Given the description of an element on the screen output the (x, y) to click on. 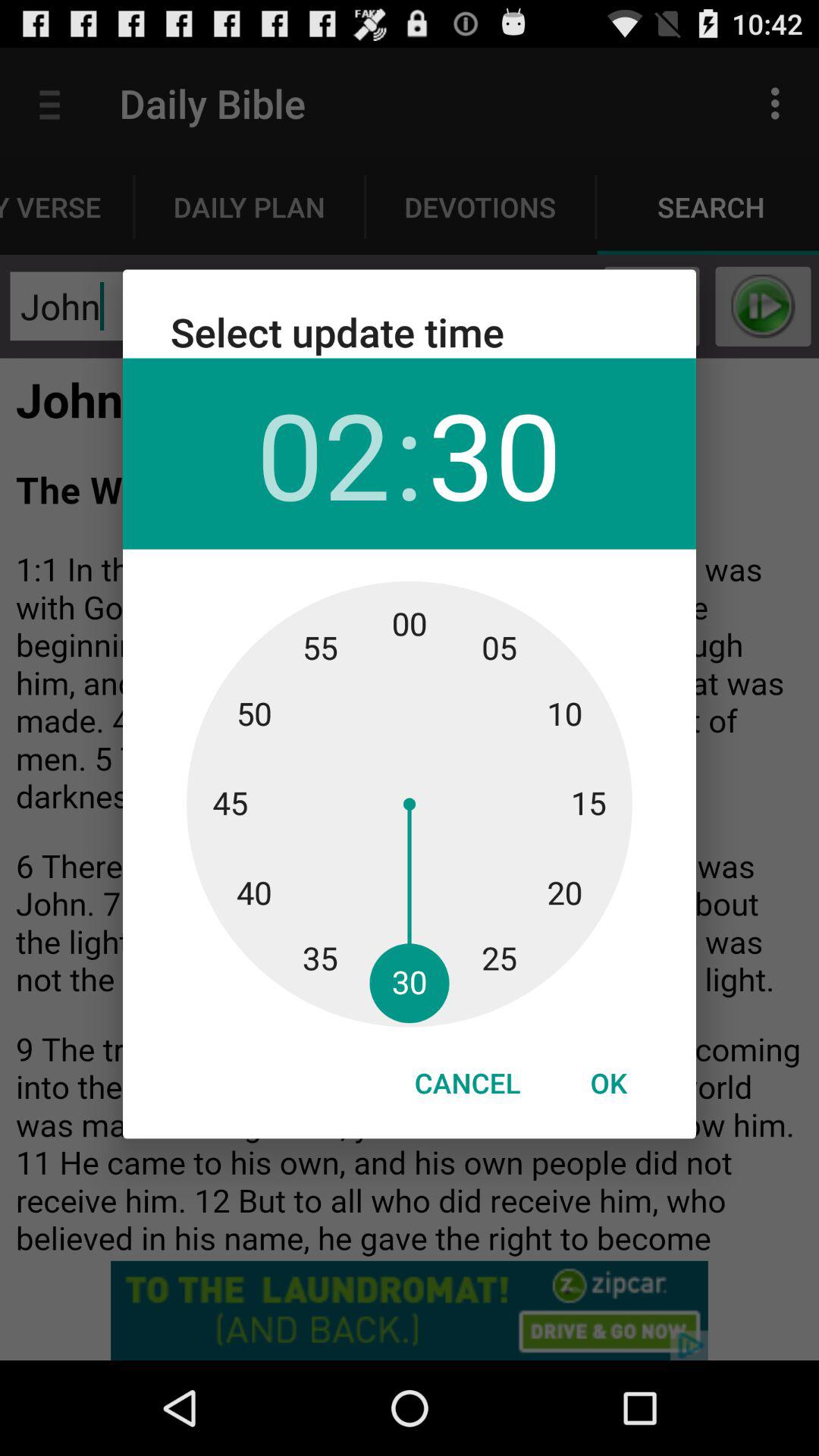
launch 02 (323, 453)
